Given the description of an element on the screen output the (x, y) to click on. 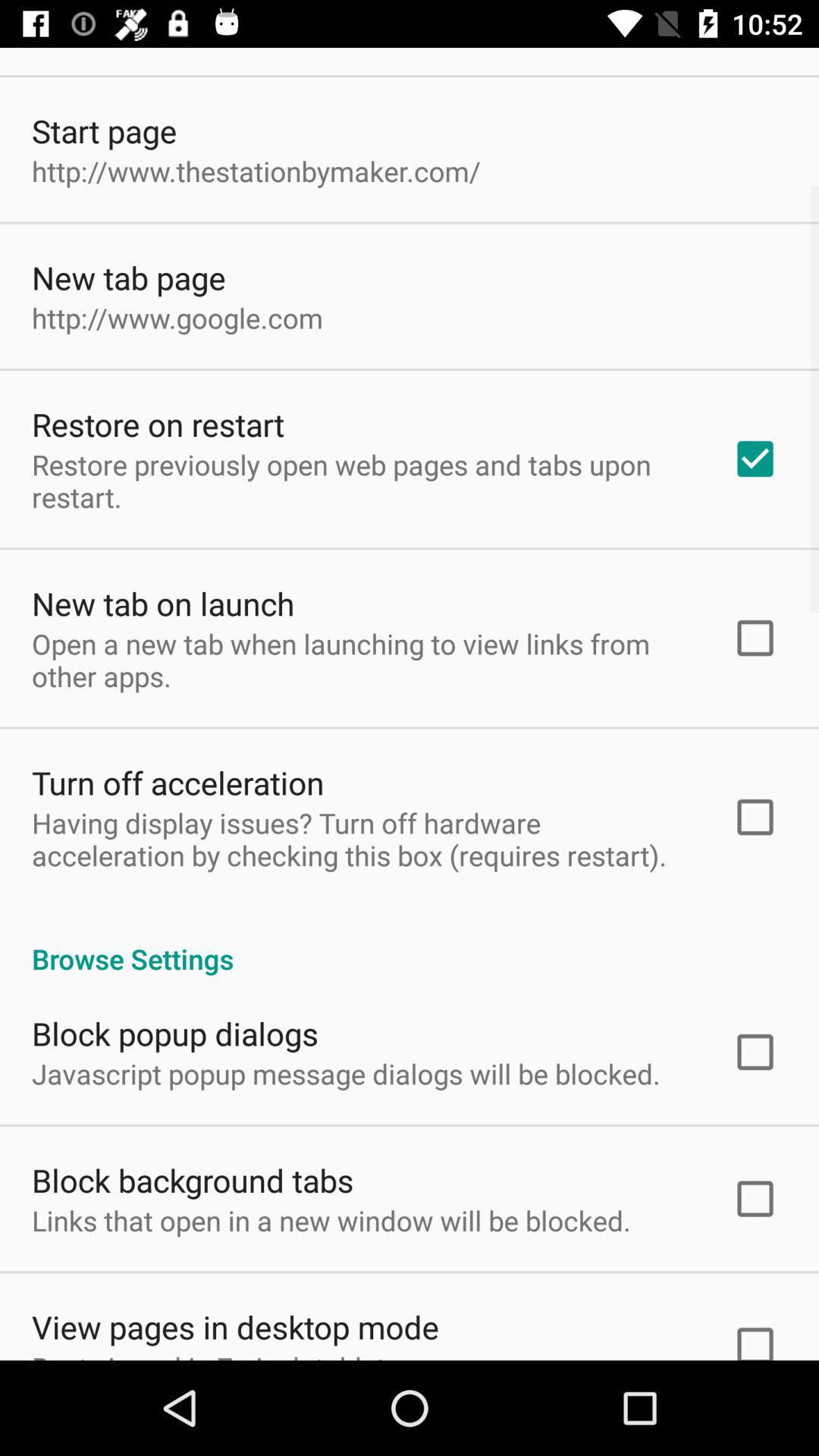
select the item below the turn off acceleration app (361, 839)
